Given the description of an element on the screen output the (x, y) to click on. 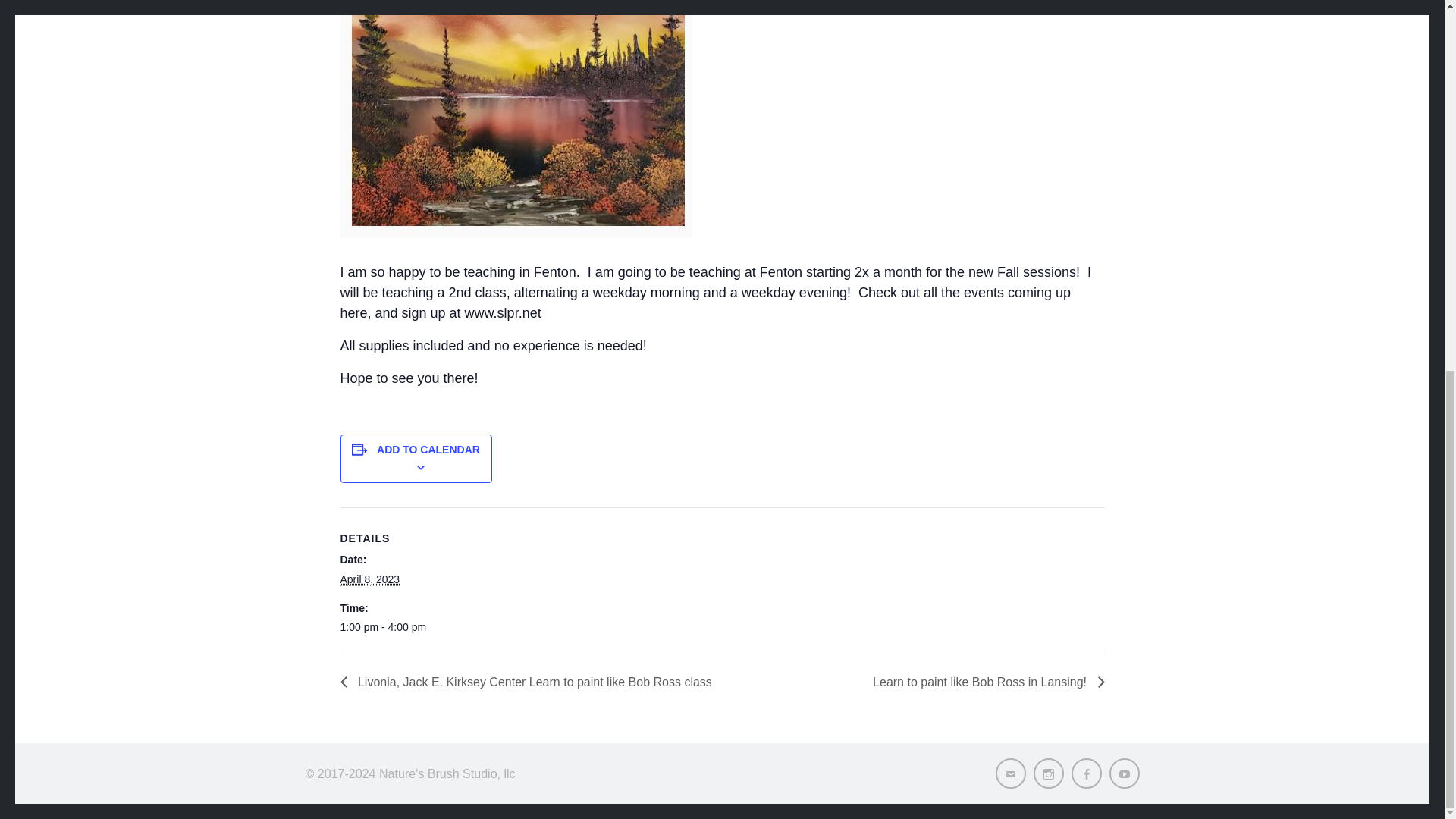
2023-04-08 (403, 627)
Facebook (1085, 773)
Learn to paint like Bob Ross in Lansing! (983, 681)
2023-04-08 (368, 579)
Email (1009, 773)
ADD TO CALENDAR (428, 449)
Youtube (1123, 773)
Instagram (1047, 773)
